Given the description of an element on the screen output the (x, y) to click on. 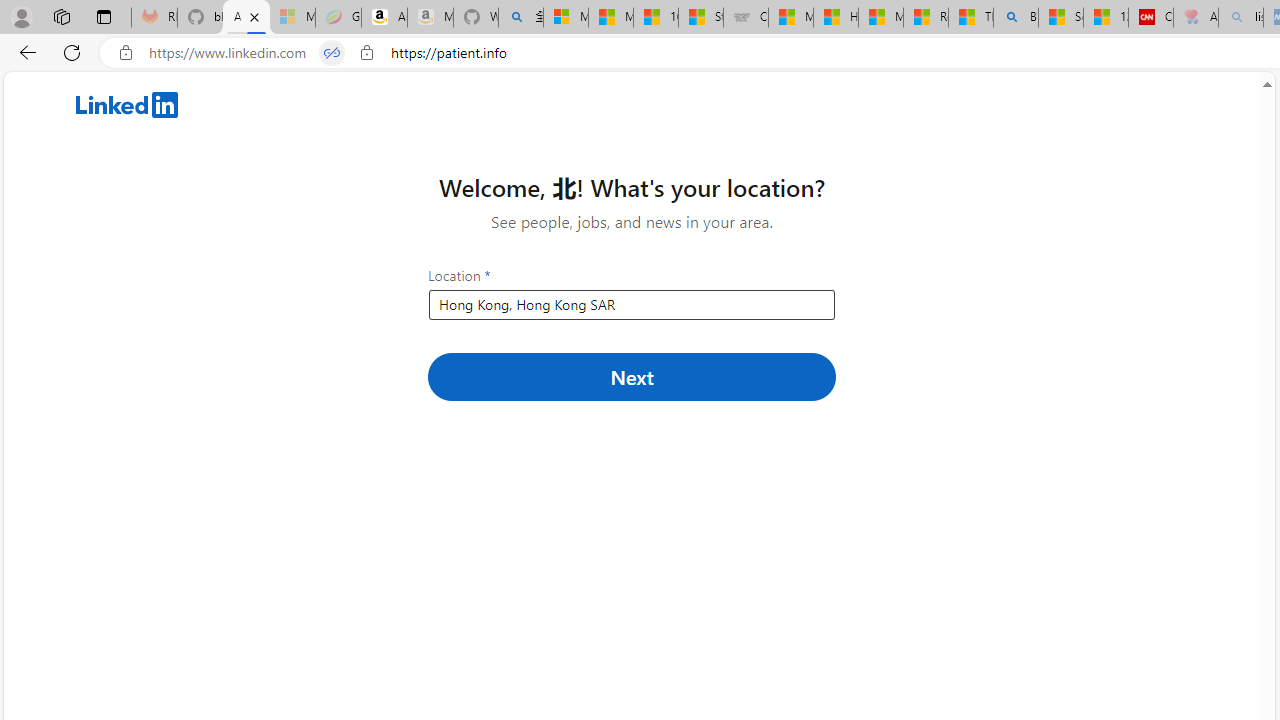
Tabs in split screen (331, 53)
Bing (1016, 17)
